Given the description of an element on the screen output the (x, y) to click on. 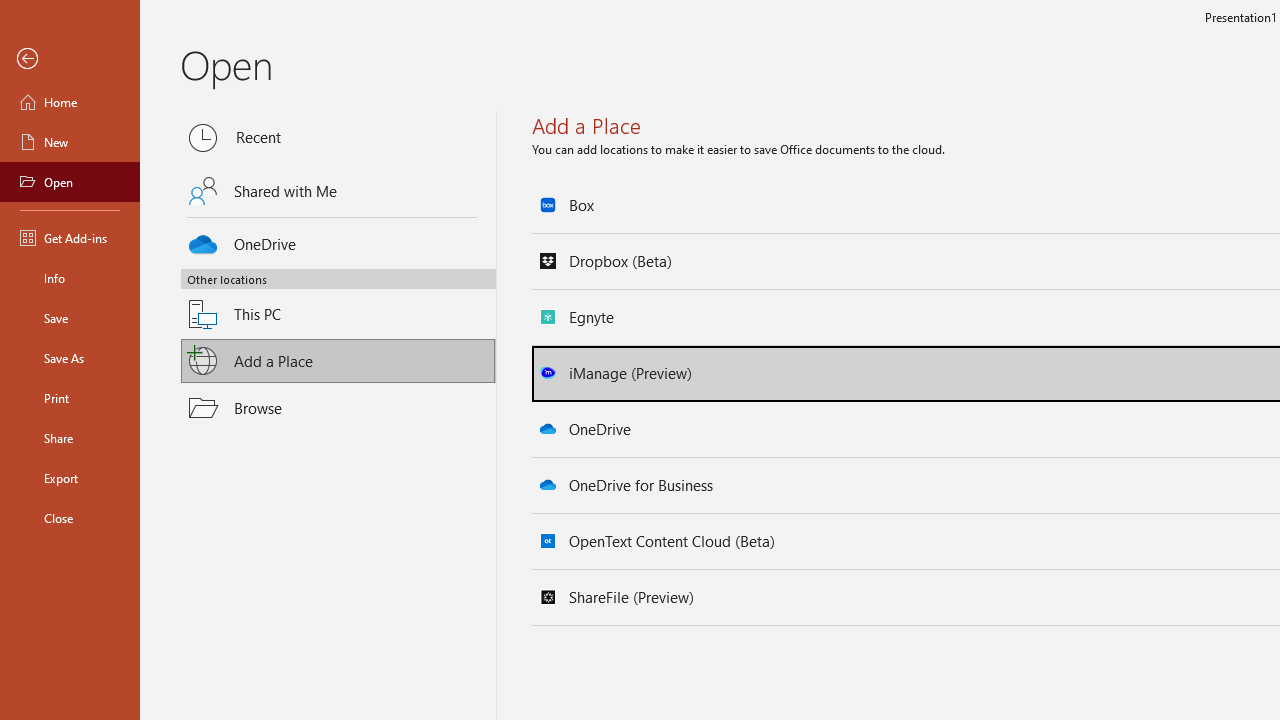
Add a Place (338, 361)
Info (69, 277)
Shared with Me (338, 191)
Back (69, 59)
OneDrive (338, 240)
Browse (338, 407)
This PC (338, 302)
Export (69, 477)
Get Add-ins (69, 237)
Save As (69, 357)
New (69, 141)
